Given the description of an element on the screen output the (x, y) to click on. 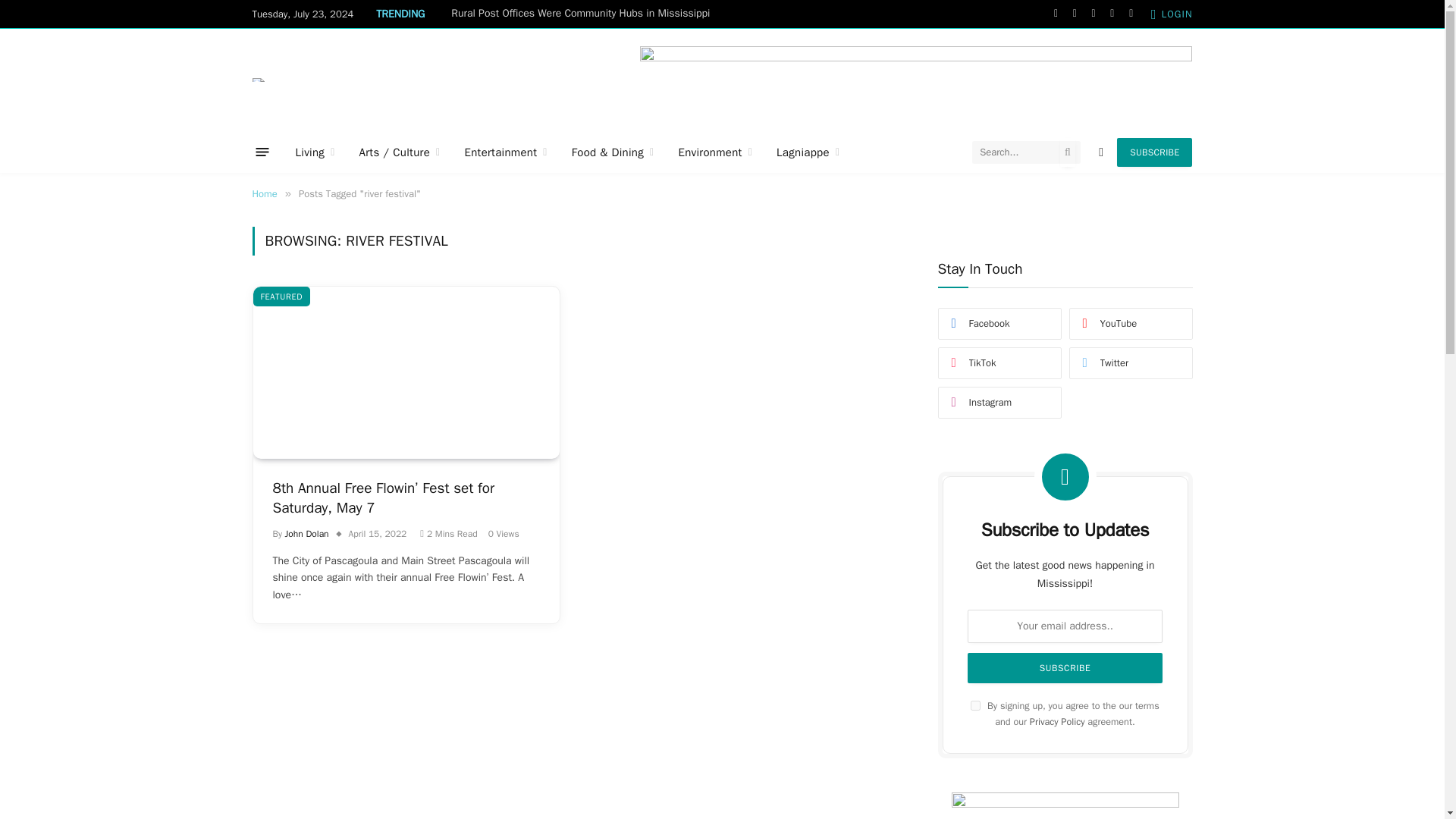
Living (315, 151)
on (975, 705)
Our Mississippi Home (257, 79)
Facebook (1055, 13)
LOGIN (1171, 13)
TikTok (1131, 13)
YouTube (1112, 13)
Rural Post Offices Were Community Hubs in Mississippi (584, 13)
Instagram (1093, 13)
Subscribe (1064, 667)
